Given the description of an element on the screen output the (x, y) to click on. 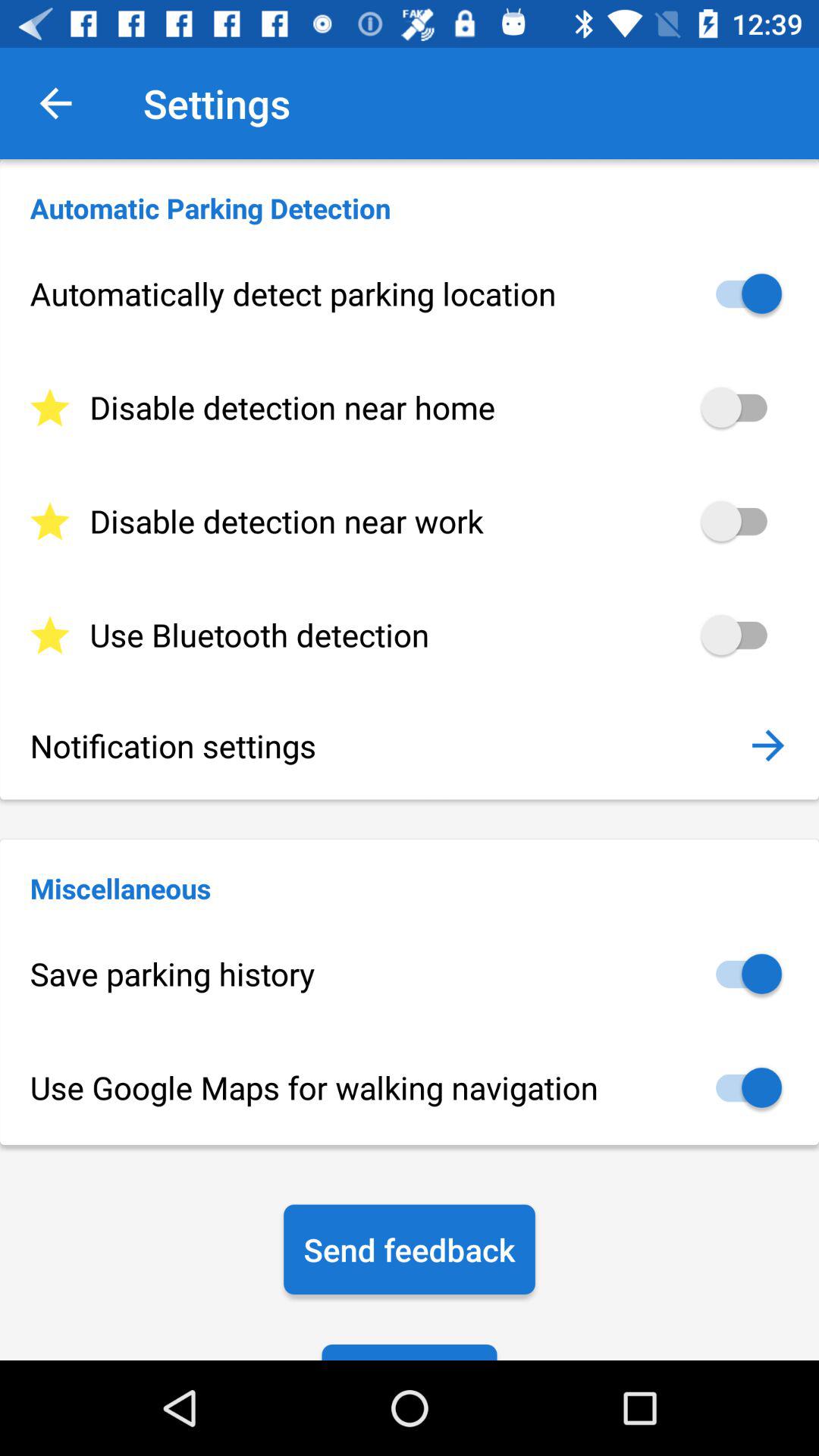
turn off the icon next to notification settings icon (767, 745)
